Given the description of an element on the screen output the (x, y) to click on. 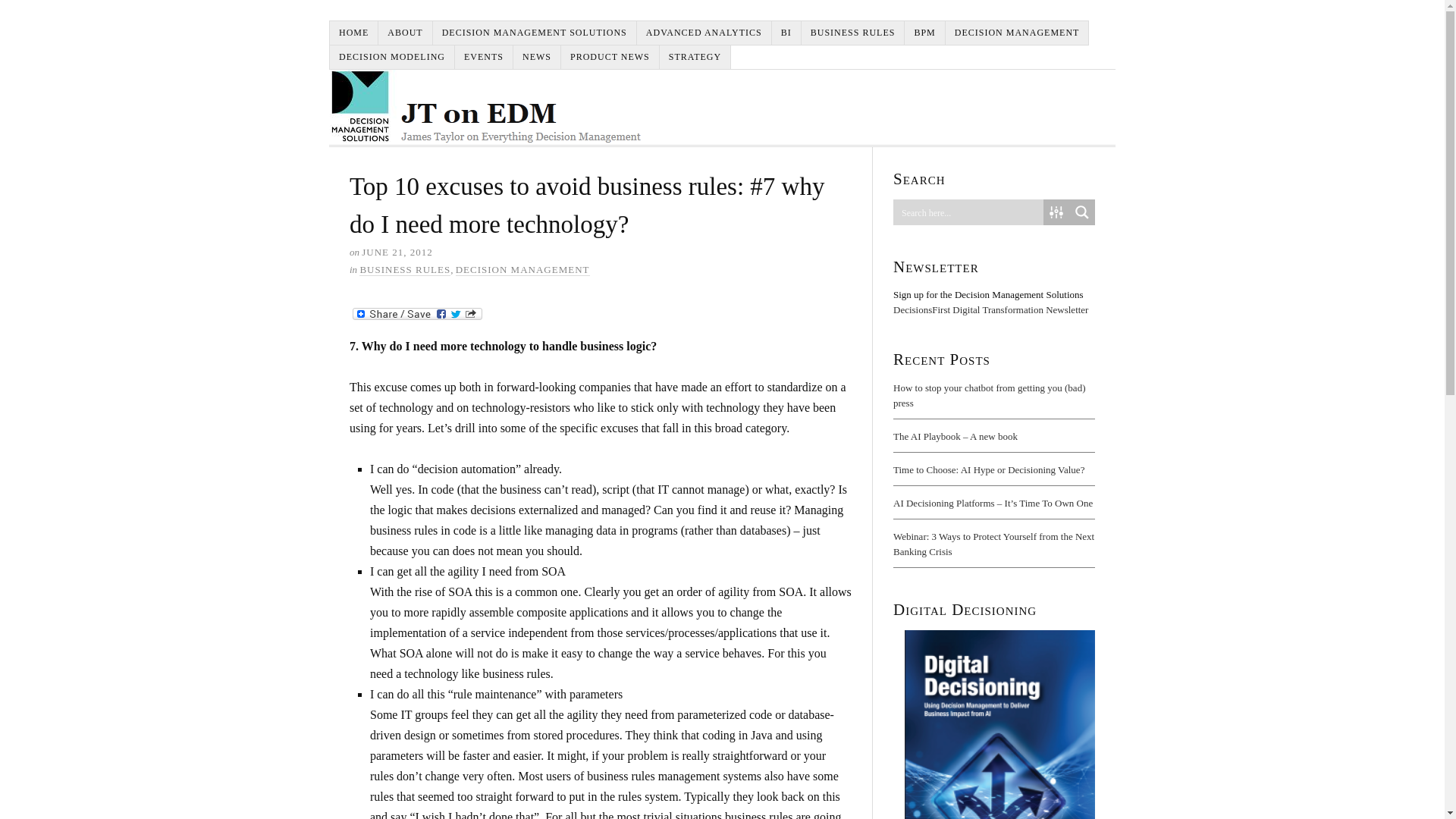
EVENTS (483, 57)
STRATEGY (694, 57)
BUSINESS RULES (404, 269)
DECISION MANAGEMENT SOLUTIONS (534, 32)
BI (786, 32)
ABOUT (405, 32)
HOME (354, 32)
DecisionsFirst Digital Transformation Newsletter (990, 309)
DECISION MANAGEMENT (1016, 32)
DECISION MODELING (392, 57)
